Given the description of an element on the screen output the (x, y) to click on. 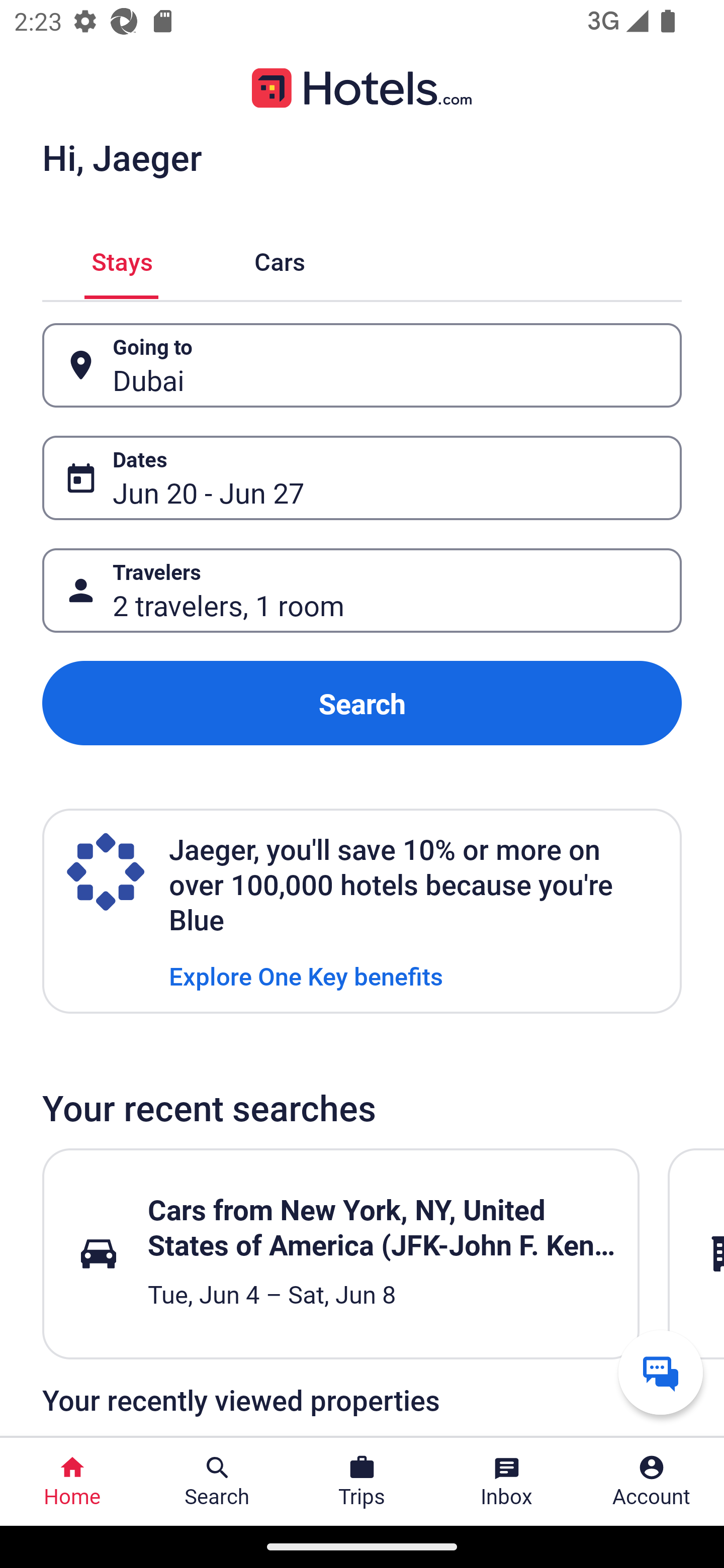
Hi, Jaeger (121, 156)
Cars (279, 259)
Going to Button Dubai (361, 365)
Dates Button Jun 20 - Jun 27 (361, 477)
Travelers Button 2 travelers, 1 room (361, 590)
Search (361, 702)
Get help from a virtual agent (660, 1371)
Search Search Button (216, 1481)
Trips Trips Button (361, 1481)
Inbox Inbox Button (506, 1481)
Account Profile. Button (651, 1481)
